Given the description of an element on the screen output the (x, y) to click on. 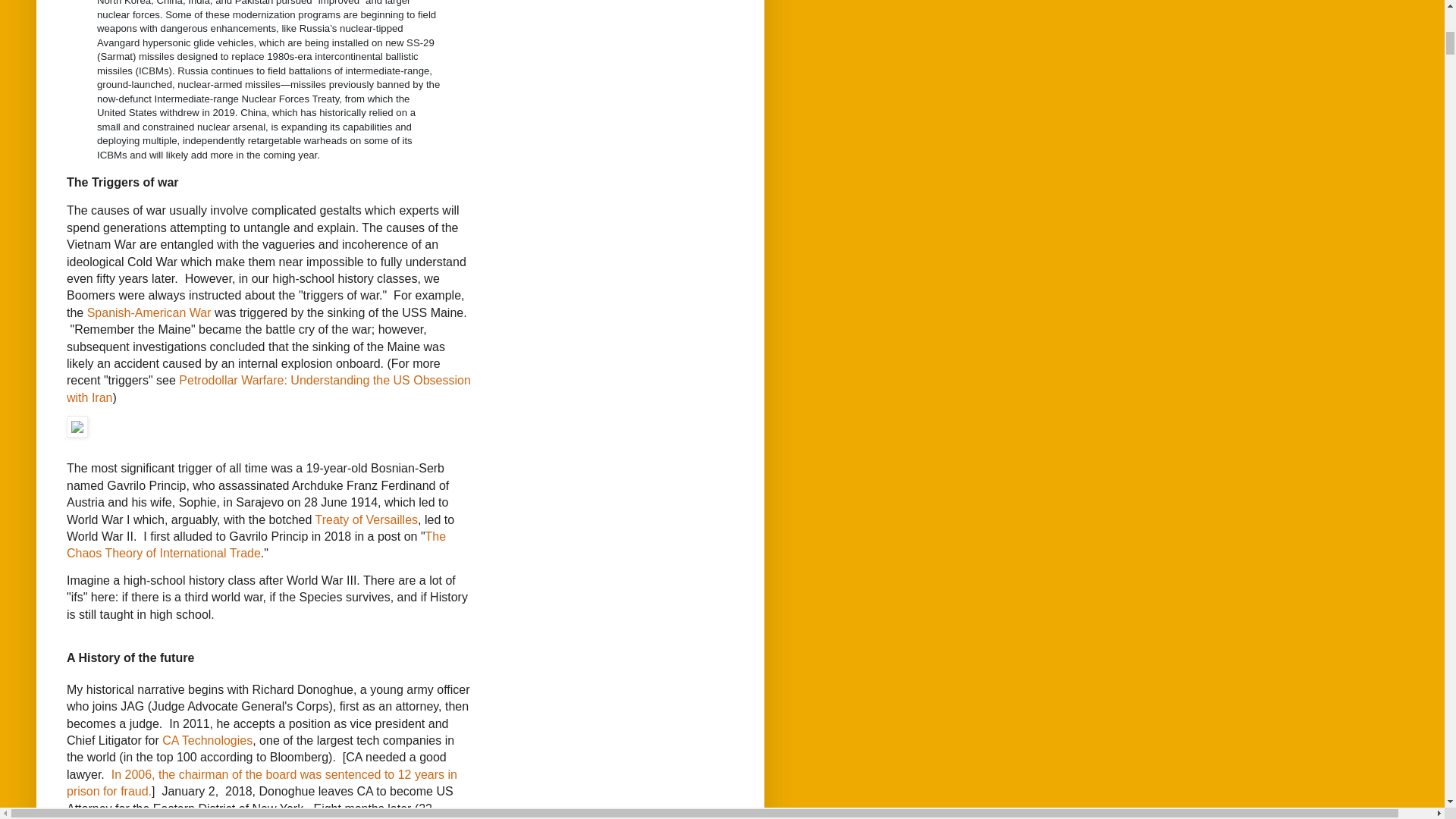
The Chaos Theory of International Trade (255, 544)
Spanish-American War (149, 312)
CA Technologies (206, 739)
Treaty of Versailles (366, 518)
